Given the description of an element on the screen output the (x, y) to click on. 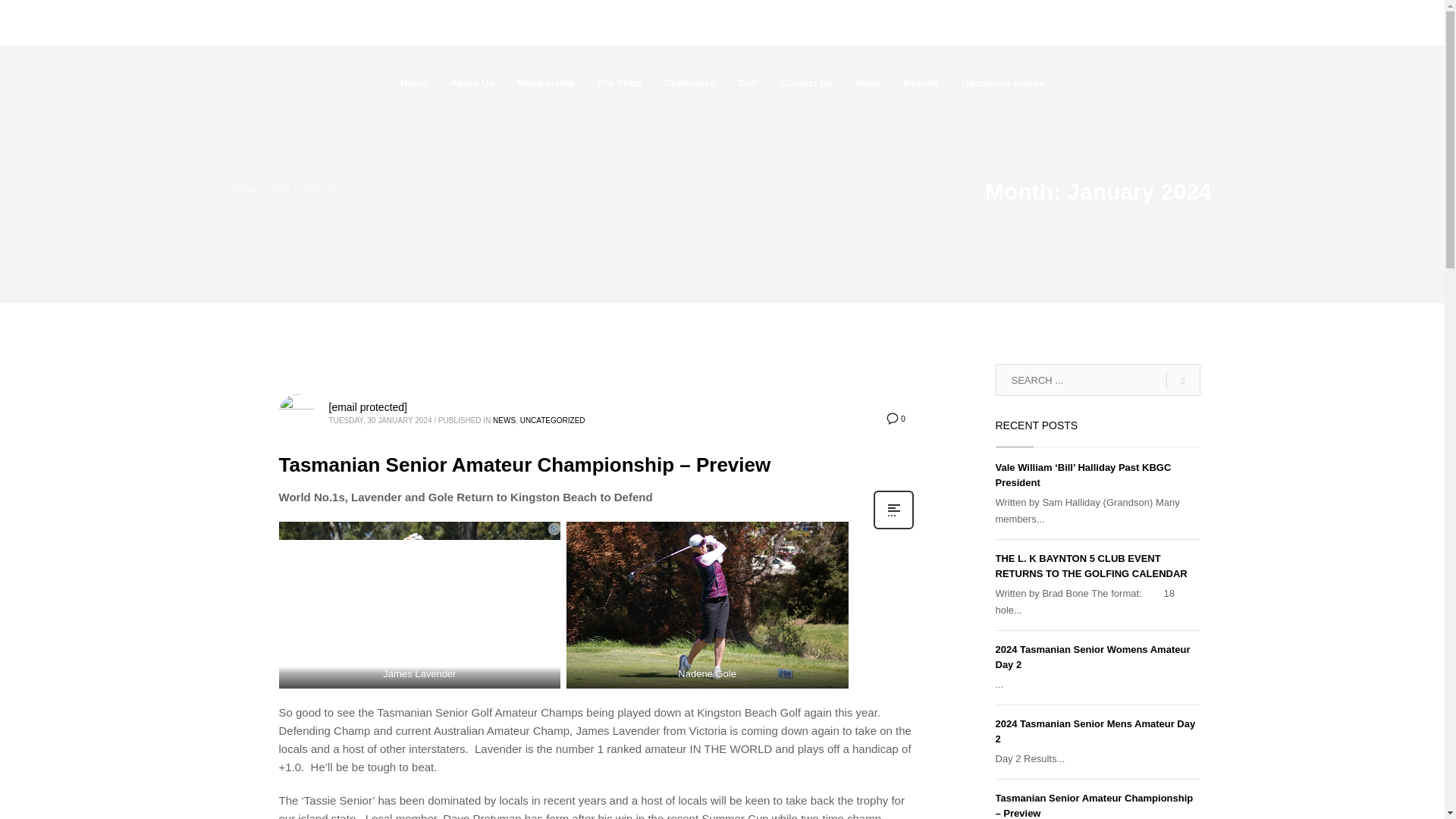
Upcoming events (1002, 83)
Contact Us (806, 83)
Clubhouse (689, 83)
2024 Tasmanian Senior Womens Amateur Day 2 (1091, 656)
Membership (546, 83)
Read more (892, 527)
No Comments (895, 418)
2024 Tasmanian Senior Mens Amateur Day 2 (1094, 731)
